Given the description of an element on the screen output the (x, y) to click on. 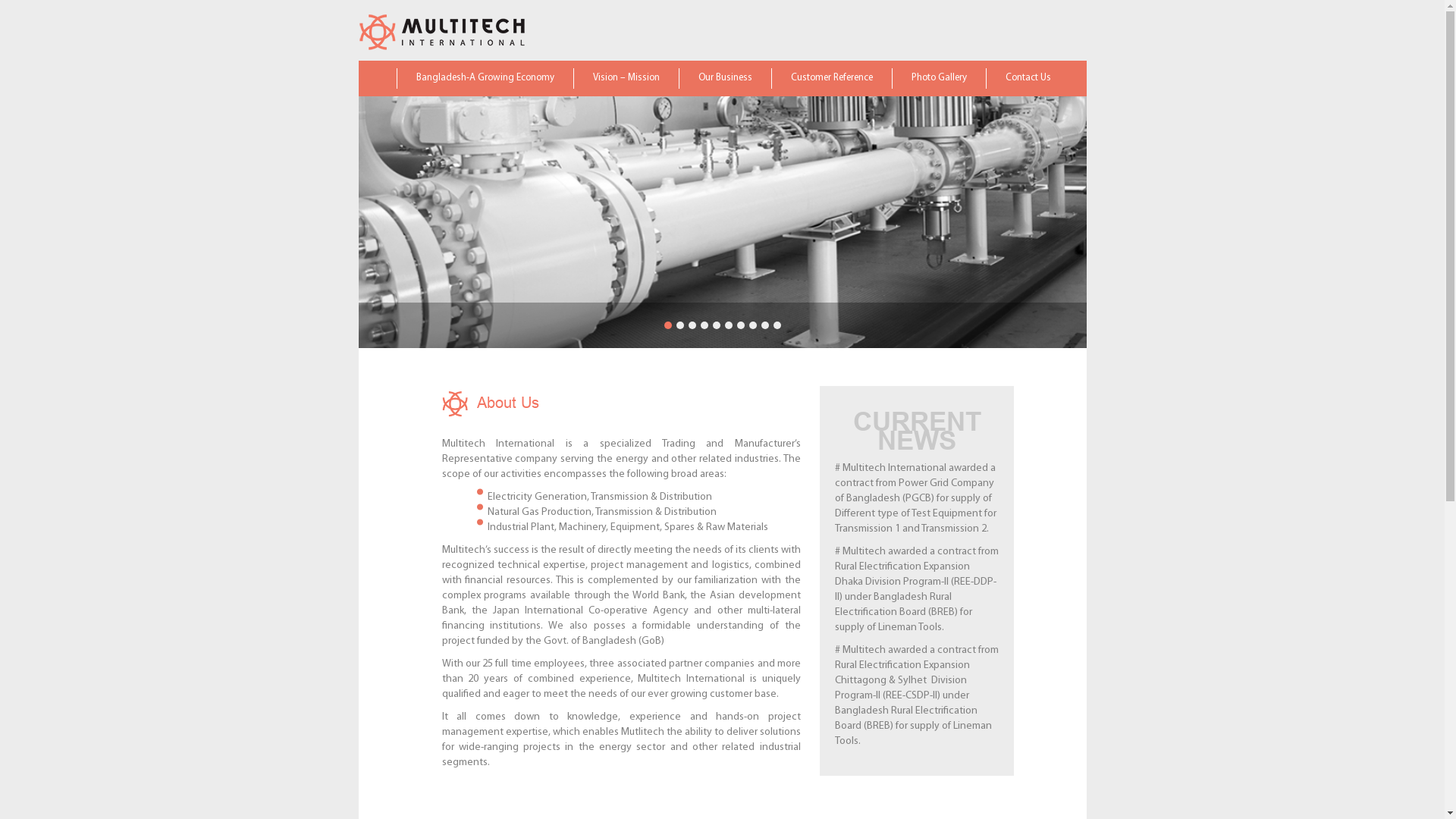
Our Business Element type: text (723, 78)
Photo Gallery Element type: text (938, 78)
Bangladesh-A Growing Economy Element type: text (483, 78)
Power & Energy Sector Element type: text (743, 106)
Customer Reference Element type: text (830, 78)
Contact Us Element type: text (1027, 78)
